Given the description of an element on the screen output the (x, y) to click on. 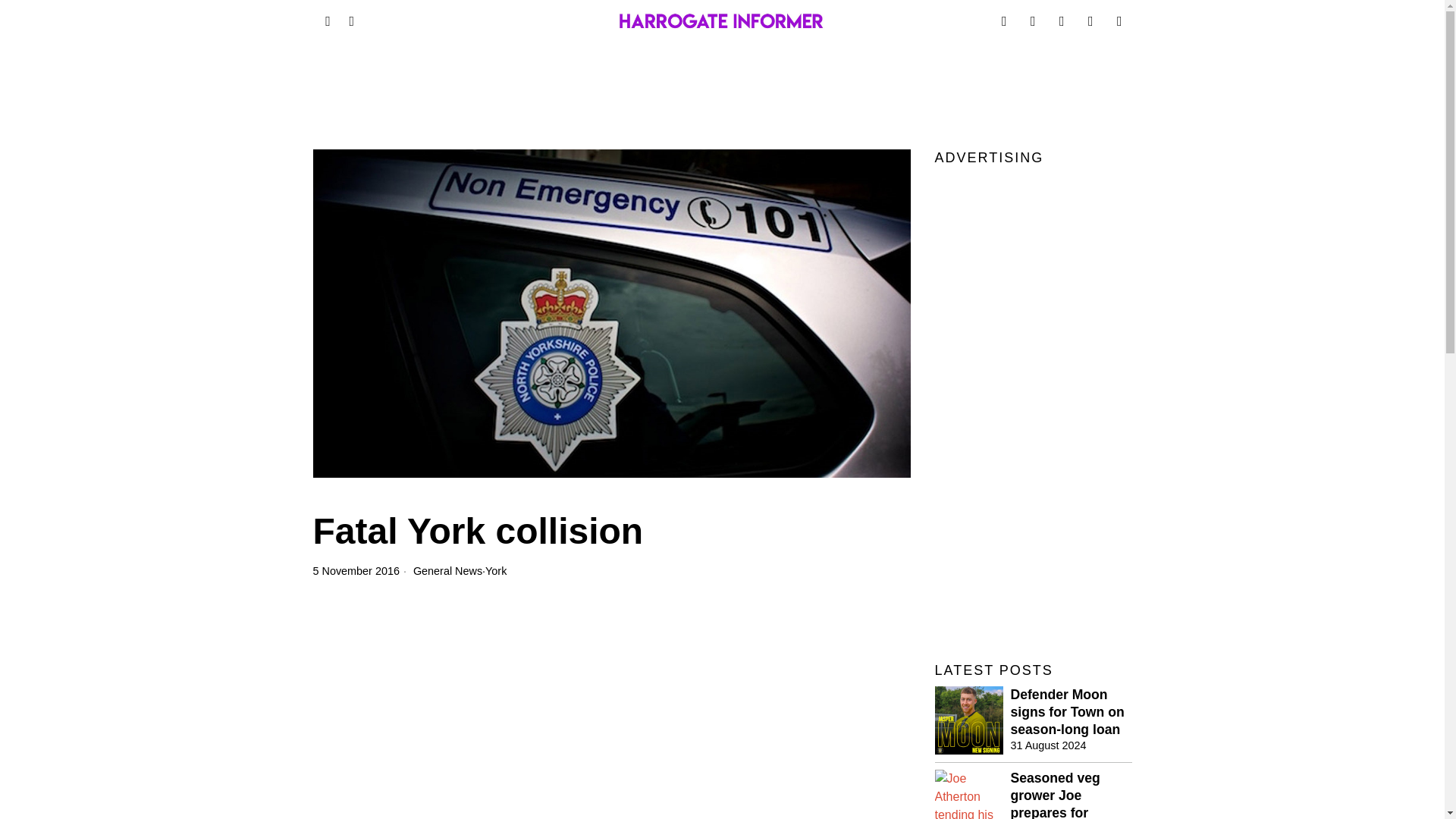
York (495, 571)
31 Aug, 2024 10:24:21 (1048, 744)
Defender Moon signs for Town on season-long loan (1070, 712)
05 Nov, 2016 16:33:05 (355, 570)
General News (447, 571)
